Given the description of an element on the screen output the (x, y) to click on. 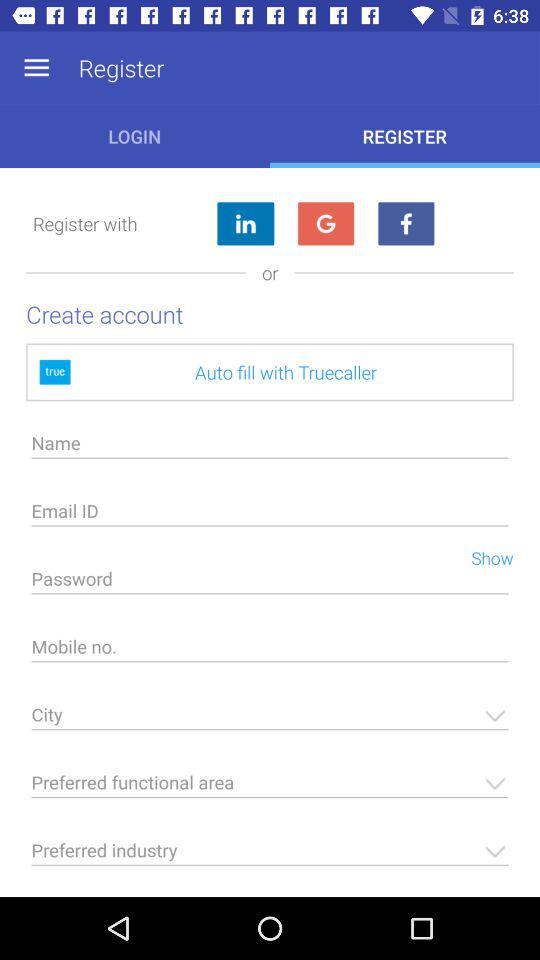
enter the mobile number (269, 652)
